Given the description of an element on the screen output the (x, y) to click on. 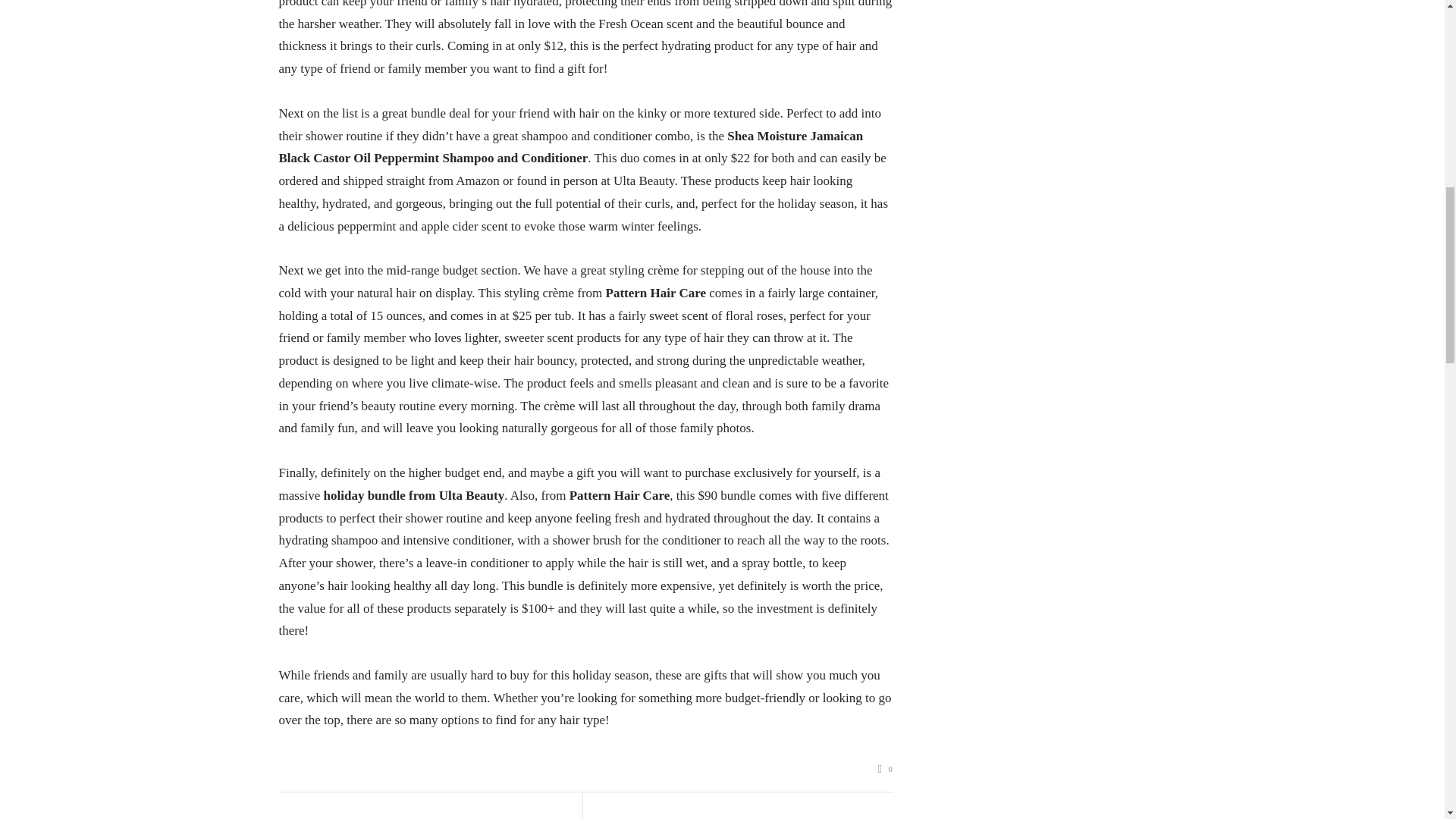
0 Comments (885, 769)
NEXT (748, 816)
0 (885, 769)
PREVIOUS (415, 816)
